Given the description of an element on the screen output the (x, y) to click on. 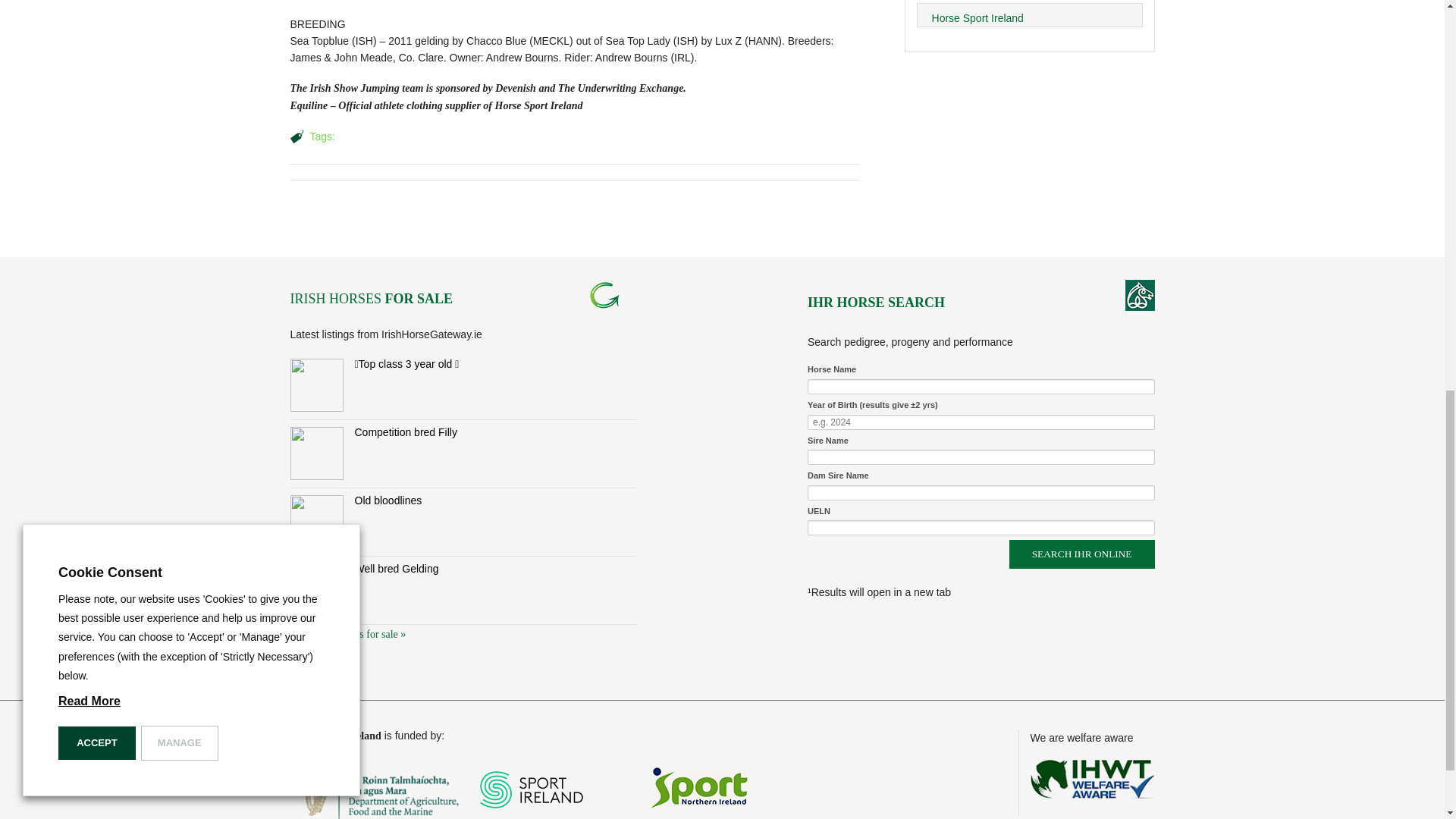
Search IHR Online (1081, 553)
